Given the description of an element on the screen output the (x, y) to click on. 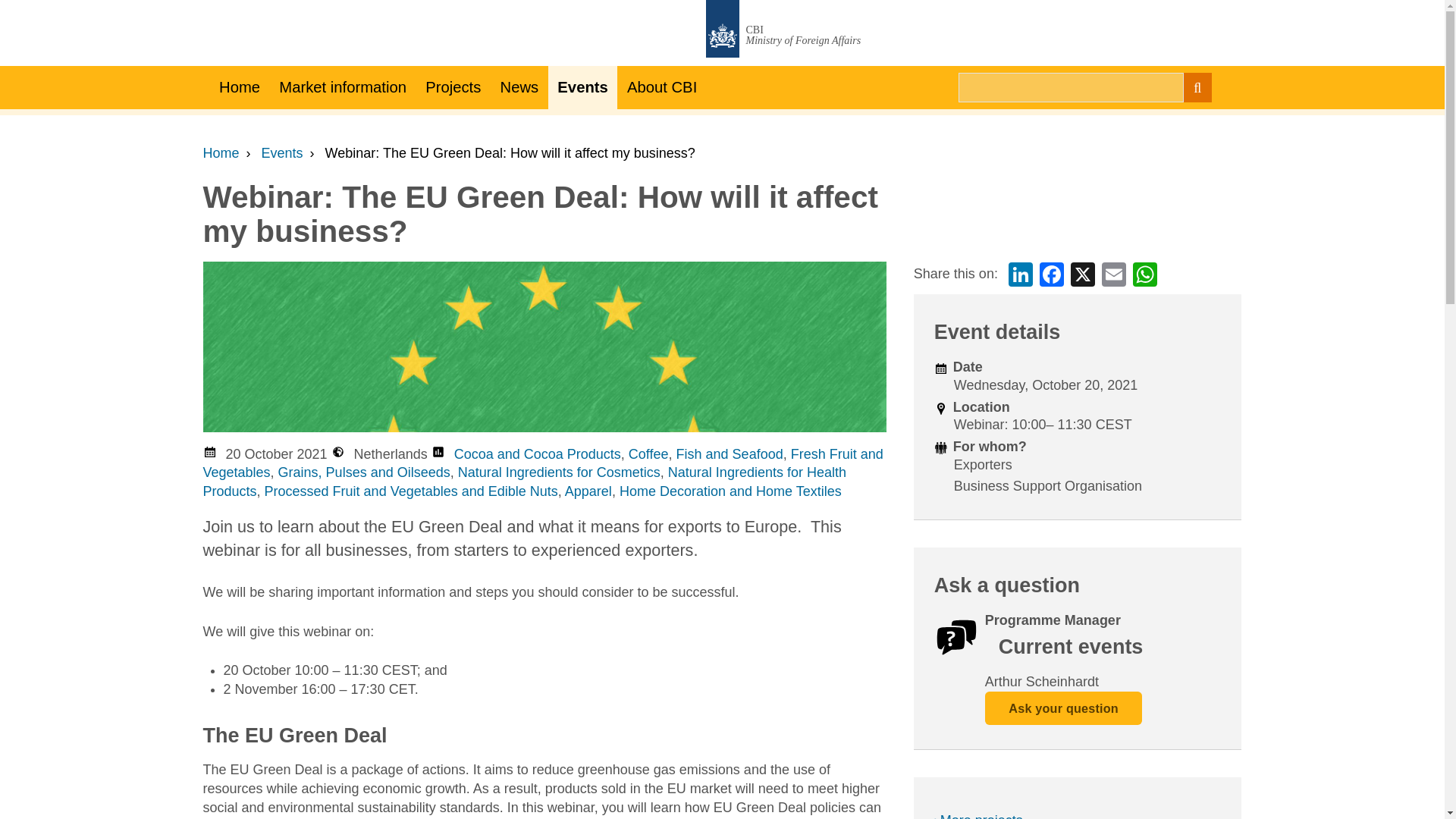
Cocoa and Cocoa Products (537, 453)
Coffee (648, 453)
Home Decoration and Home Textiles (730, 491)
Natural Ingredients for Health Products (524, 481)
About CBI (661, 87)
LinkedIn (1020, 273)
Search (1197, 87)
Events (582, 87)
Email (1113, 273)
Natural Ingredients for Cosmetics (559, 472)
Facebook (1051, 273)
Fish and Seafood (730, 453)
Events (282, 152)
Home (221, 152)
Projects (453, 87)
